Given the description of an element on the screen output the (x, y) to click on. 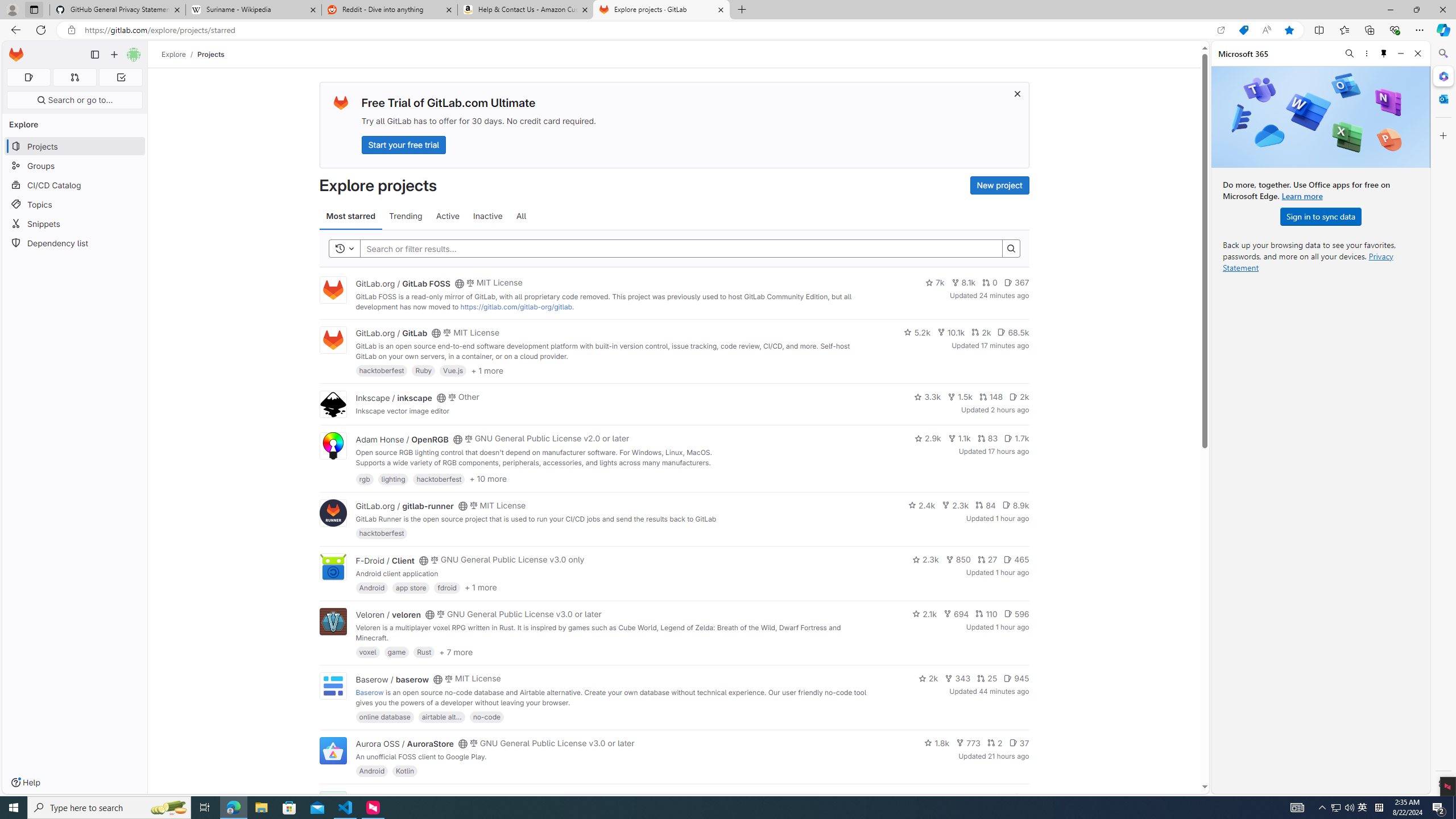
+ 7 more (456, 651)
1.4k (943, 797)
2.3k (925, 559)
Vue.js (452, 370)
Adam Honse / OpenRGB (401, 438)
Dependency list (74, 242)
2 (995, 742)
343 (957, 678)
To-Do list 0 (120, 76)
Inkscape / inkscape (393, 397)
GitLab.org / GitLab (391, 333)
